Given the description of an element on the screen output the (x, y) to click on. 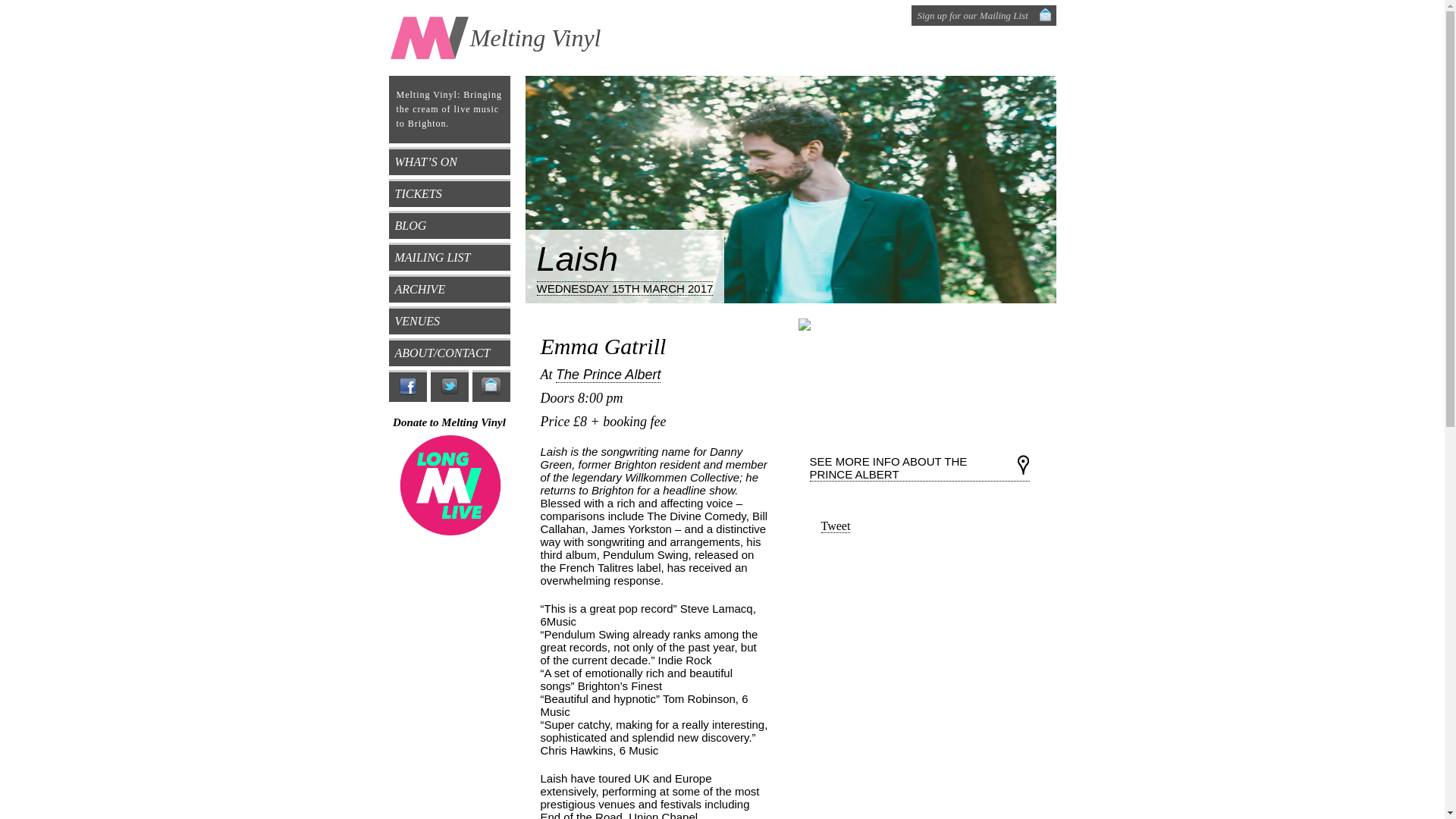
MAILING LIST (448, 256)
The Prince Albert (608, 371)
The Prince Albert Information Page (926, 467)
Tweet (835, 526)
Sign up for our Mailing List (984, 14)
SEE MORE INFO ABOUT THE PRINCE ALBERT (926, 467)
Melting Vinyl on Twitter (449, 386)
ARCHIVE (448, 288)
TICKETS (448, 193)
BLOG (448, 224)
